Given the description of an element on the screen output the (x, y) to click on. 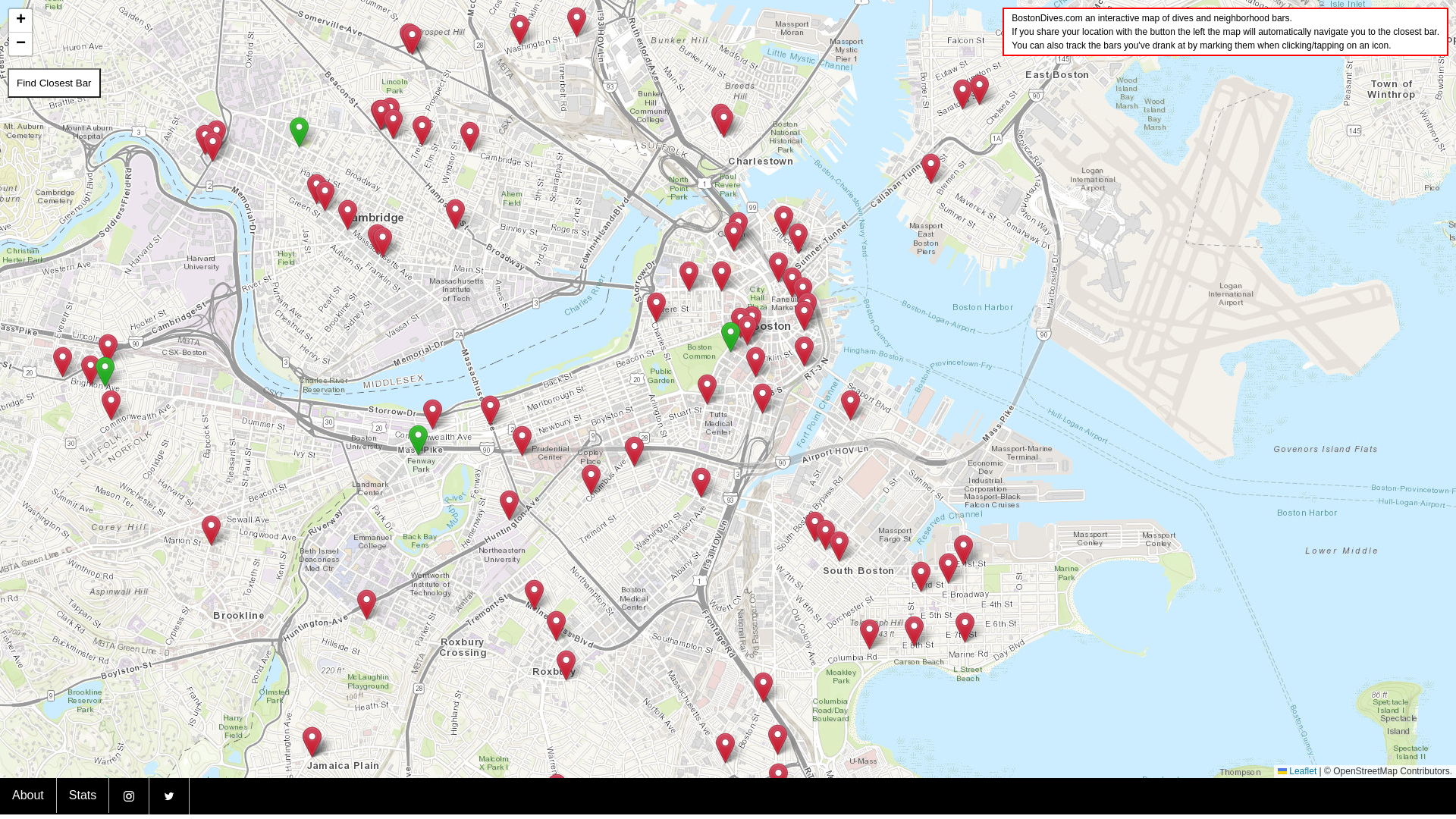
+ Element type: text (20, 20)
About Element type: text (28, 795)
Stats Element type: text (82, 795)
Find Closest Bar Element type: text (53, 82)
Leaflet Element type: text (1296, 770)
